Given the description of an element on the screen output the (x, y) to click on. 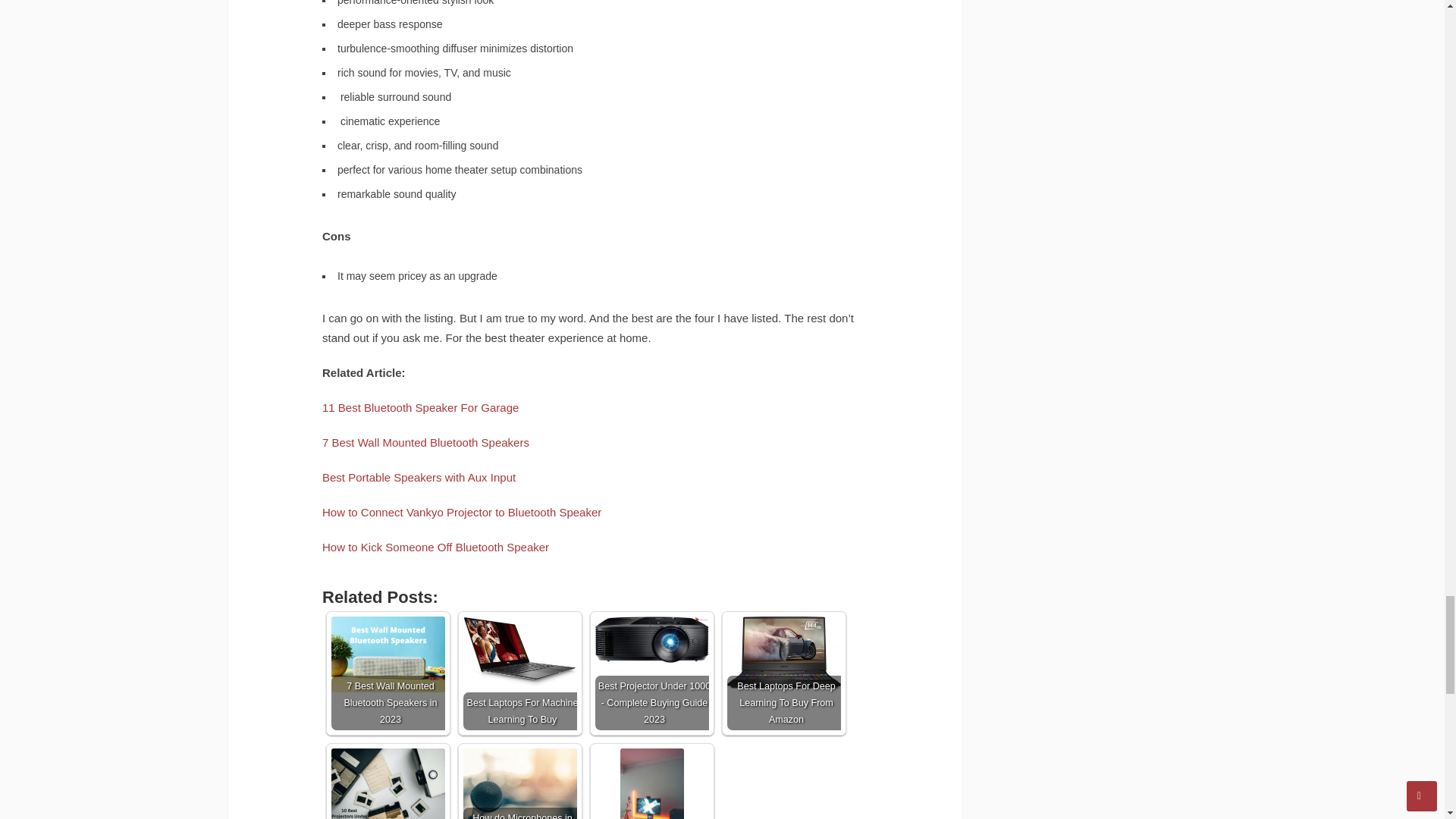
Best Projector Under 1000 - Complete Buying Guide 2023 (652, 640)
Best Laptops For Machine Learning To Buy (519, 651)
11 Best Bluetooth Speaker For Garage (419, 407)
7 Best Wall Mounted Bluetooth Speakers  (426, 441)
Best CPU For Gaming and Streaming in 2023 (652, 783)
How to Connect Vankyo Projector to Bluetooth Speaker (461, 512)
Best Laptops For Deep Learning To Buy From Amazon (783, 652)
Best Portable Speakers with Aux Input (418, 477)
Top 10 Best Projectors Under 500 in 2023 (388, 783)
7 Best Wall Mounted Bluetooth Speakers in 2023 (388, 654)
